Given the description of an element on the screen output the (x, y) to click on. 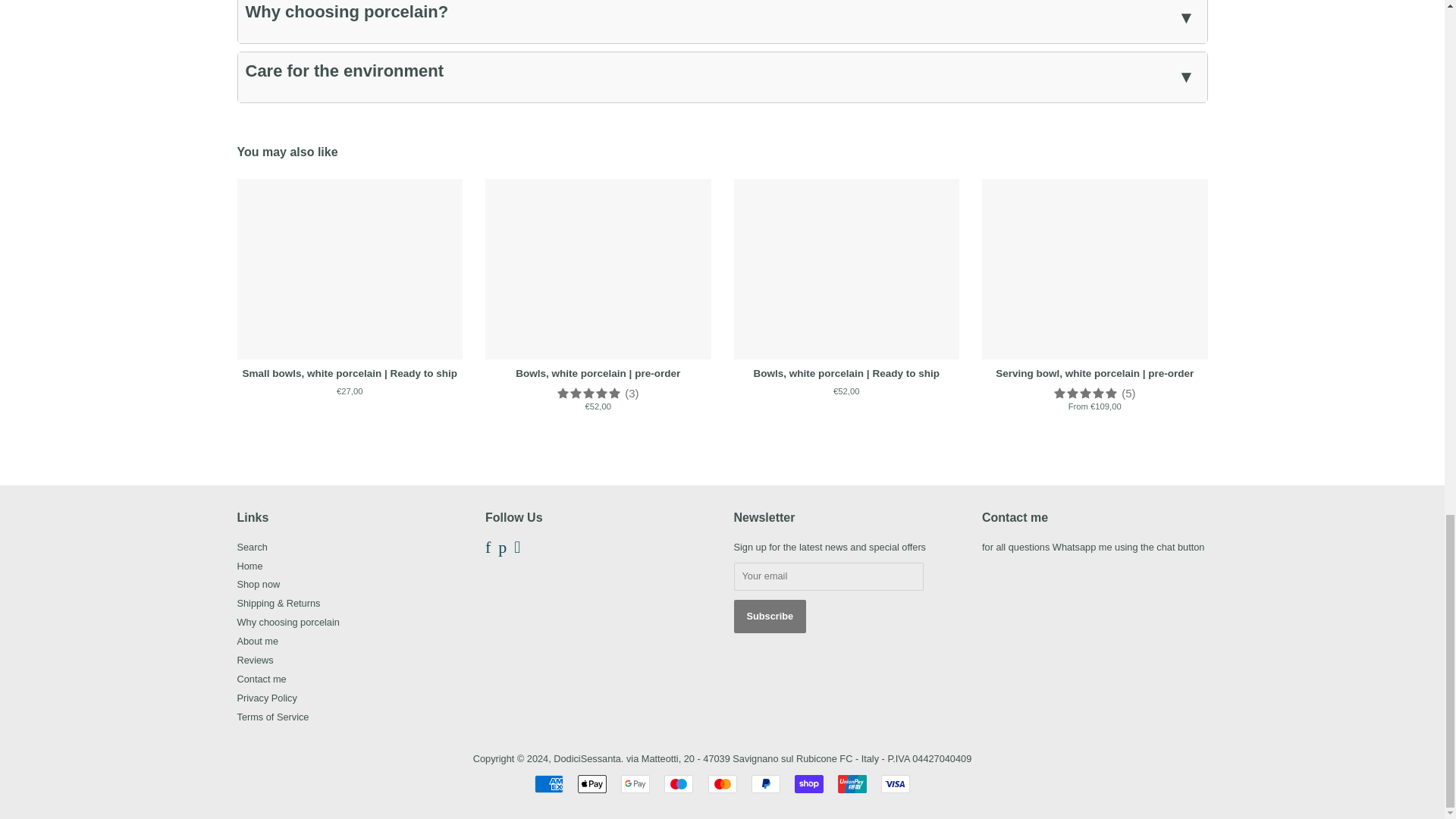
Maestro (678, 783)
Subscribe (769, 616)
American Express (548, 783)
Google Pay (635, 783)
Union Pay (852, 783)
Shop Pay (809, 783)
Apple Pay (592, 783)
Mastercard (721, 783)
Visa (895, 783)
PayPal (765, 783)
